Given the description of an element on the screen output the (x, y) to click on. 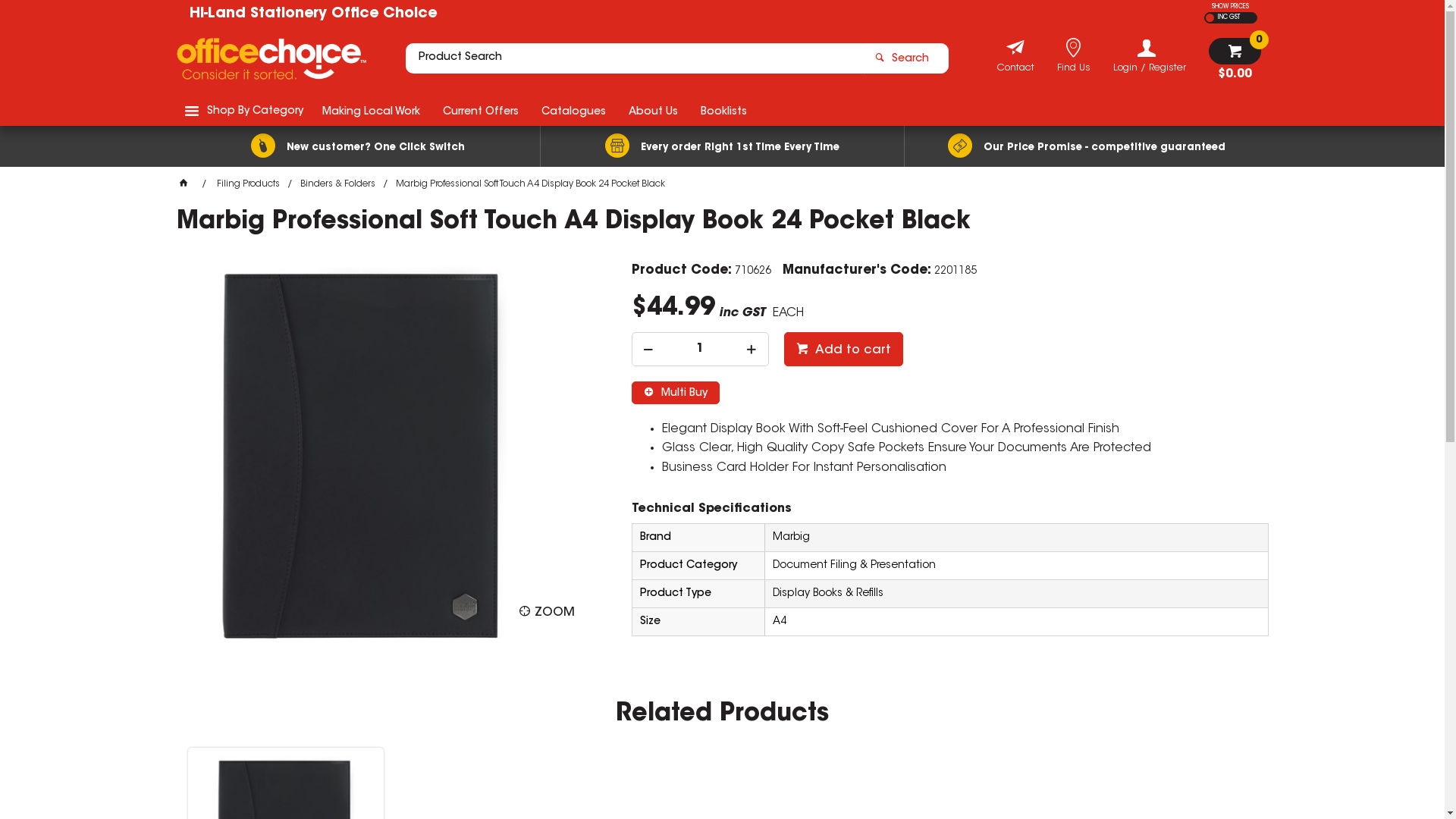
Multi Buy Element type: text (674, 392)
Search Element type: text (904, 58)
About Us Element type: text (653, 110)
Contact Element type: text (1014, 69)
Every order Right 1st Time Every Time Element type: text (721, 145)
Find Us Element type: text (1073, 69)
Filing Products Element type: text (247, 183)
Making Local Work Element type: text (370, 110)
Current Offers Element type: text (479, 110)
Login / Register Element type: text (1149, 55)
EX GST Element type: text (1209, 17)
ZOOM Element type: text (545, 611)
Binders & Folders Element type: text (337, 183)
Booklists Element type: text (722, 110)
Catalogues Element type: text (572, 110)
New customer? One Click Switch Element type: text (357, 145)
INC GST Element type: text (1226, 17)
Add to cart Element type: text (843, 349)
$0.00
0 Element type: text (1234, 59)
Our Price Promise - competitive guaranteed Element type: text (1085, 145)
